Given the description of an element on the screen output the (x, y) to click on. 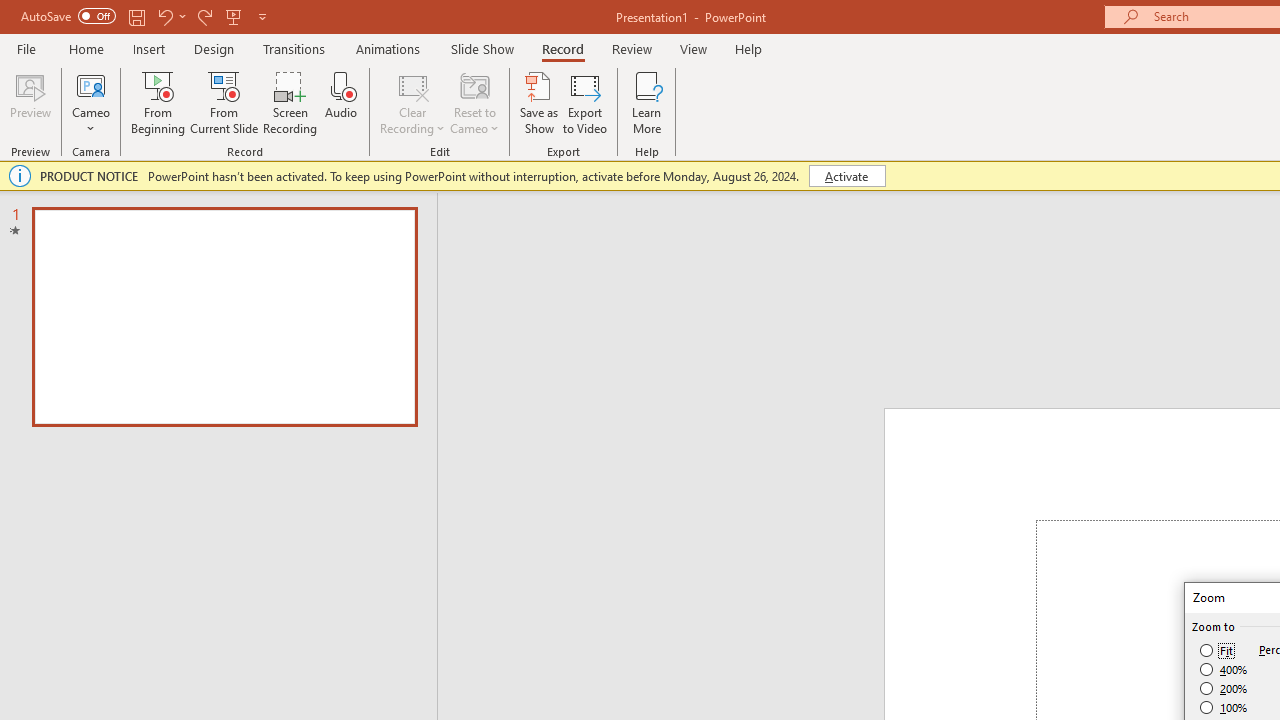
Fit (1217, 650)
200% (1224, 688)
100% (1224, 707)
400% (1224, 669)
